Given the description of an element on the screen output the (x, y) to click on. 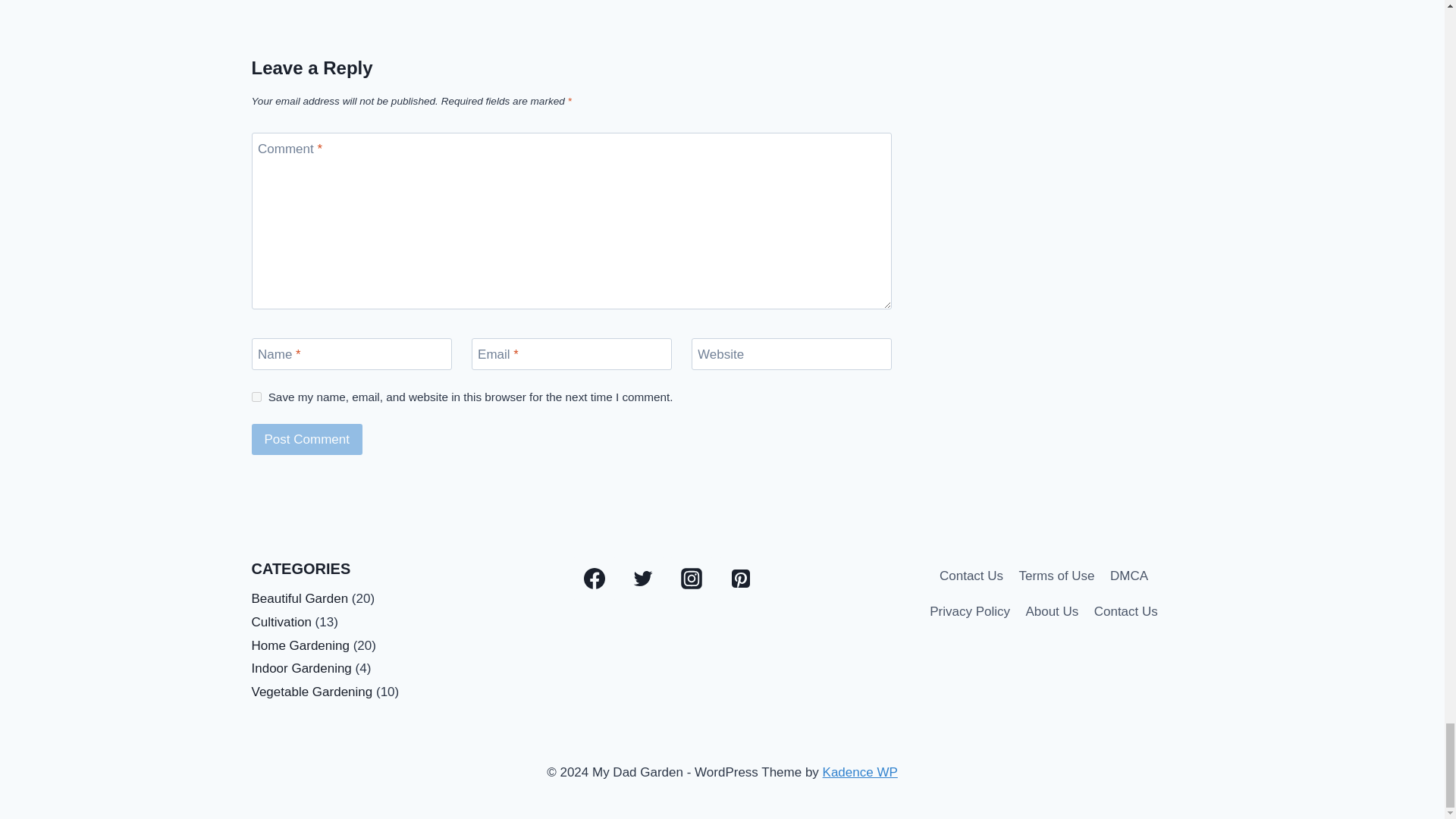
Post Comment (306, 439)
yes (256, 397)
